Given the description of an element on the screen output the (x, y) to click on. 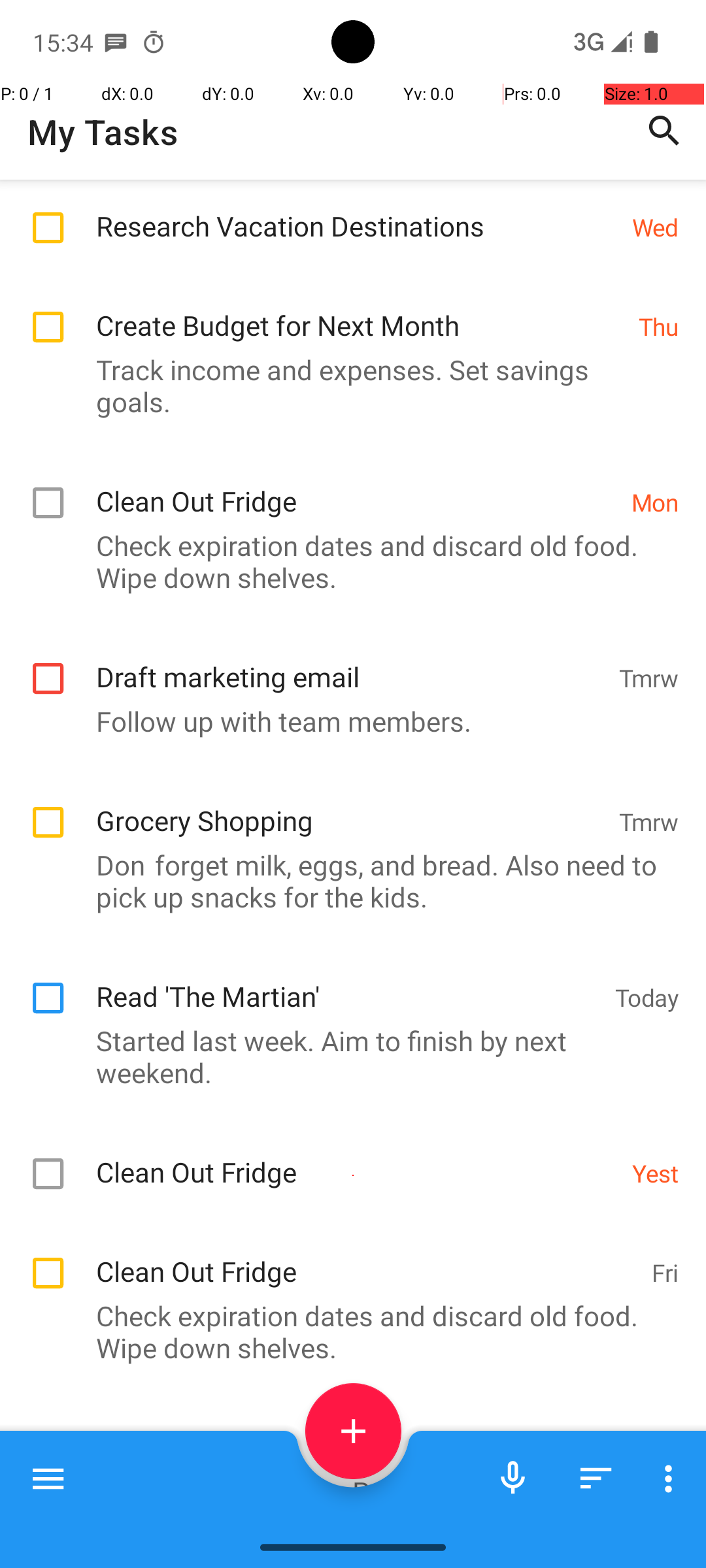
Draft marketing email Element type: android.widget.TextView (350, 662)
Follow up with team members. Element type: android.widget.TextView (346, 720)
